Given the description of an element on the screen output the (x, y) to click on. 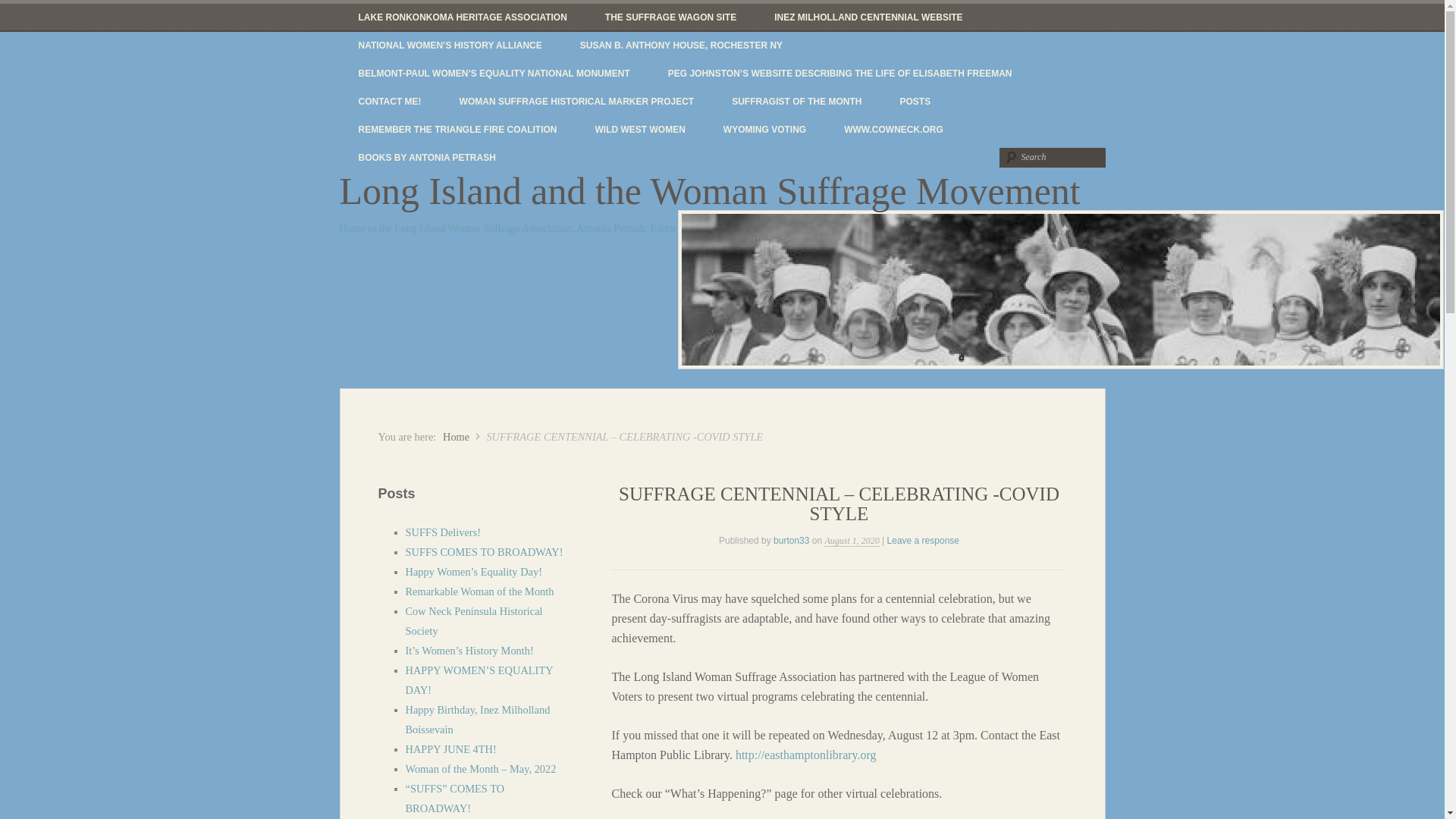
Cow Neck Peninsula Historical Society (472, 621)
WWW.COWNECK.ORG (893, 130)
WYOMING VOTING (764, 130)
WILD WEST WOMEN (640, 130)
Long Island and the Woman Suffrage Movement (455, 436)
burton33 (791, 540)
Long Island and the Woman Suffrage Movement (709, 190)
Home (455, 436)
Happy Birthday, Inez Milholland Boissevain (477, 719)
Saturday, August 1st, 2020, 3:49 pm (851, 541)
SUFFS COMES TO BROADWAY! (483, 551)
POSTS (915, 101)
Search (1051, 157)
LAKE RONKONKOMA HERITAGE ASSOCIATION (462, 17)
THE SUFFRAGE WAGON SITE (670, 17)
